Given the description of an element on the screen output the (x, y) to click on. 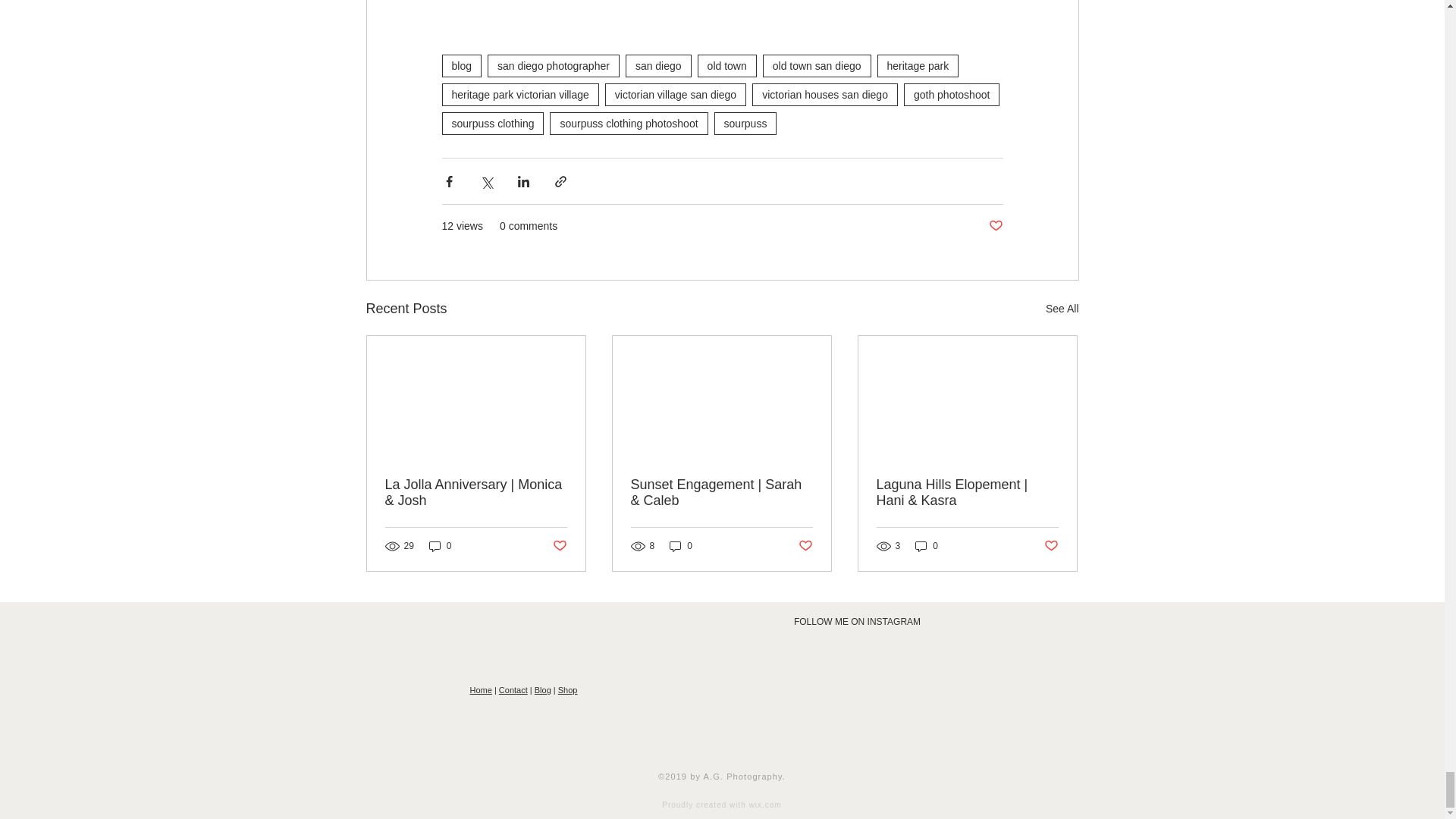
Post not marked as liked (995, 226)
old town (727, 65)
san diego photographer (553, 65)
goth photoshoot (951, 94)
sourpuss clothing photoshoot (628, 123)
See All (1061, 309)
victorian houses san diego (825, 94)
san diego (658, 65)
sourpuss (745, 123)
blog (460, 65)
heritage park (918, 65)
sourpuss clothing (492, 123)
victorian village san diego (675, 94)
heritage park victorian village (519, 94)
old town san diego (816, 65)
